Given the description of an element on the screen output the (x, y) to click on. 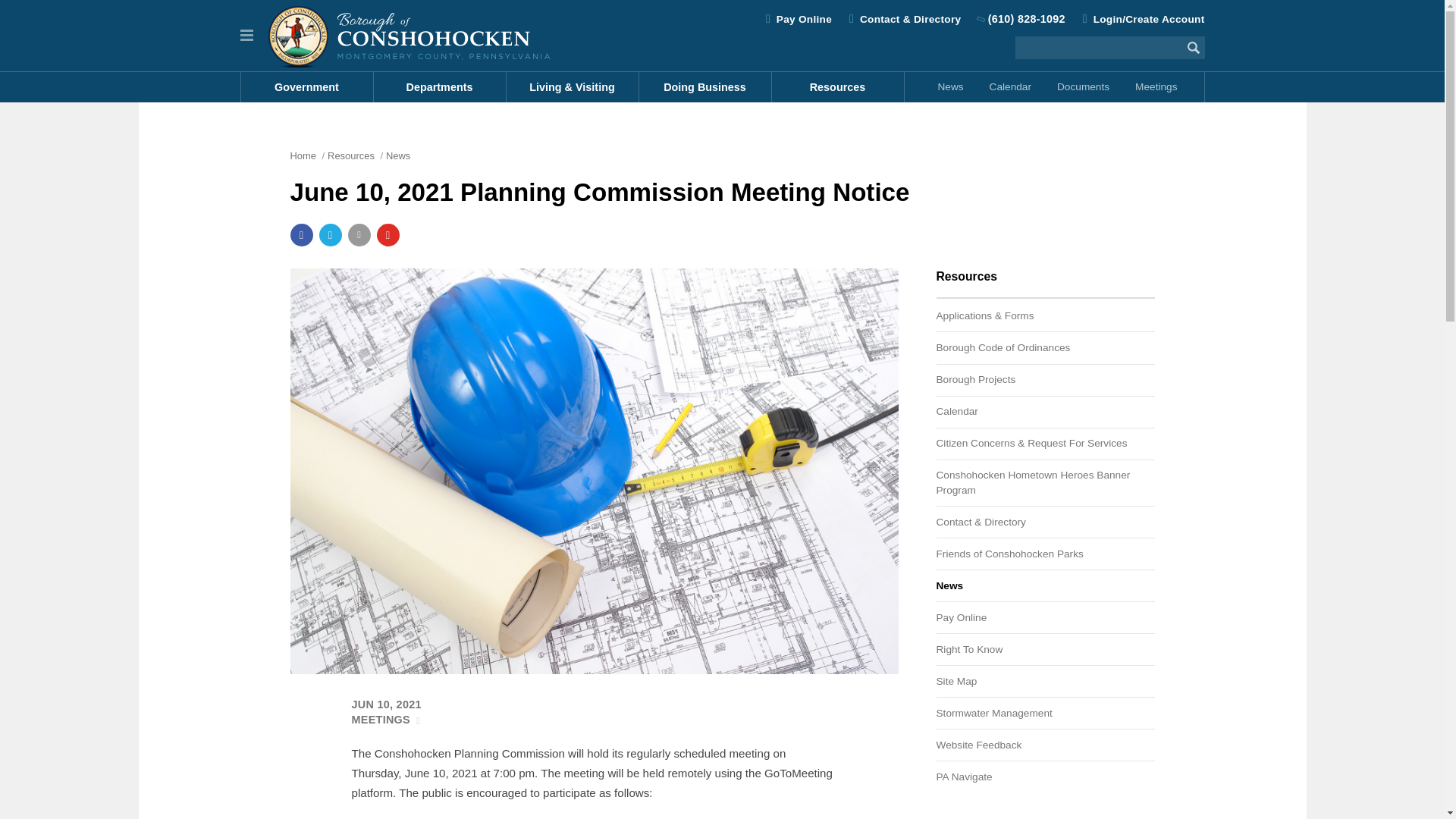
Back to the Home Page (408, 35)
Departments (438, 87)
Pay Online (803, 19)
Government (307, 87)
